Given the description of an element on the screen output the (x, y) to click on. 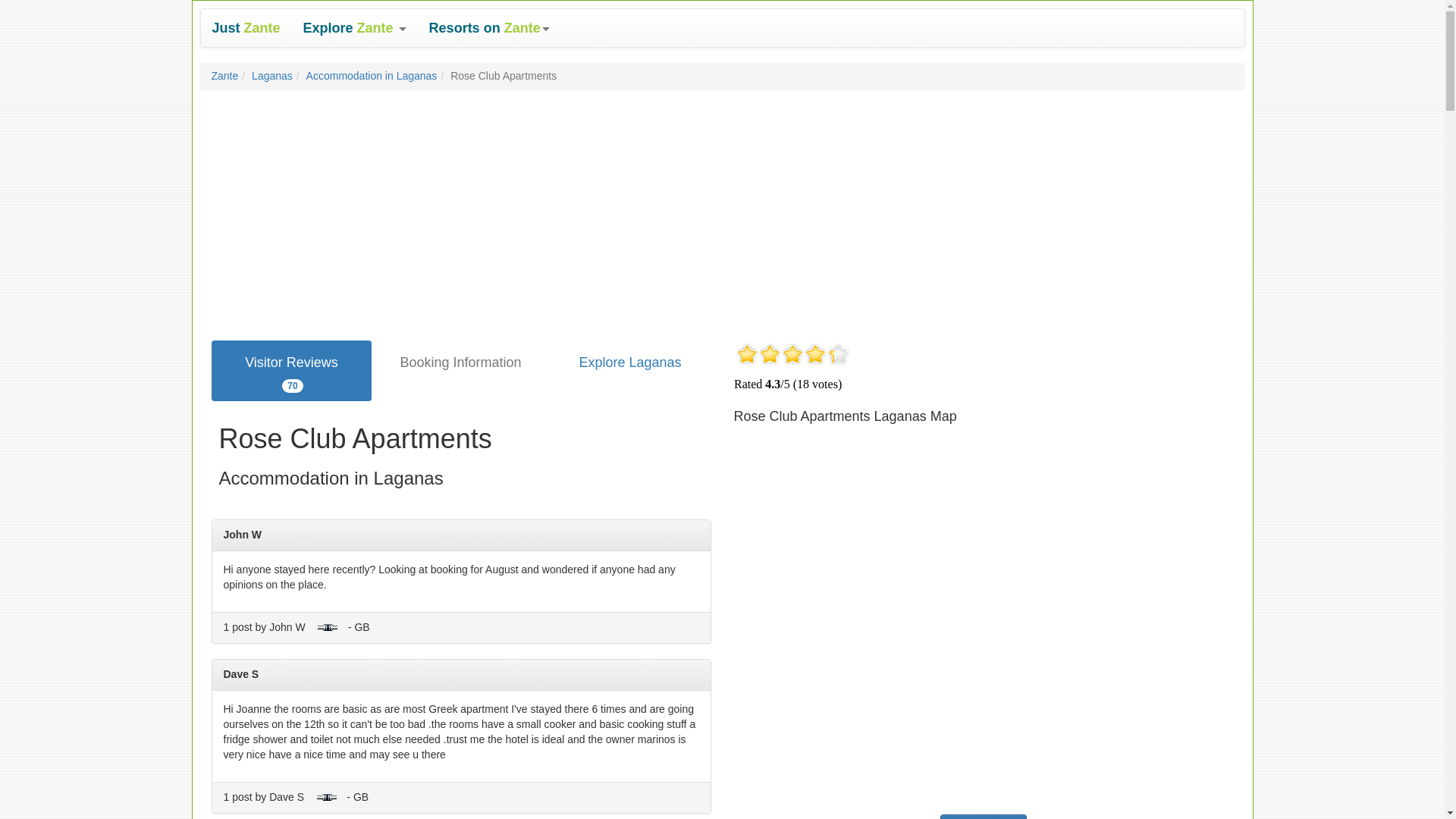
Explore Zante (354, 27)
Explore Laganas (629, 362)
Laganas (291, 370)
Accommodation in Laganas (271, 75)
Resorts on Zante (371, 75)
Booking Information (488, 27)
Advertisement (459, 362)
Zante (245, 27)
